Given the description of an element on the screen output the (x, y) to click on. 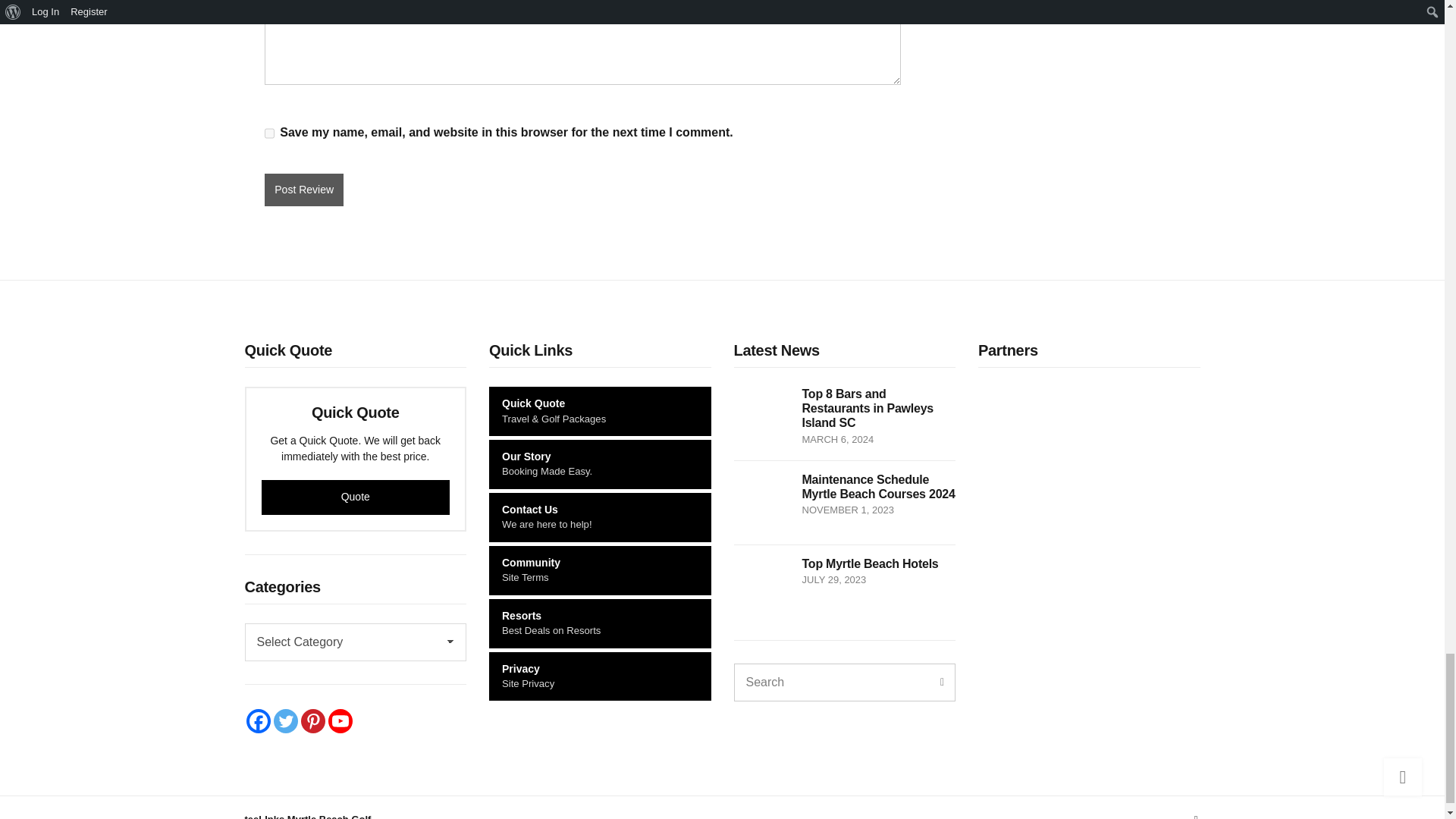
Post Review (303, 190)
